Given the description of an element on the screen output the (x, y) to click on. 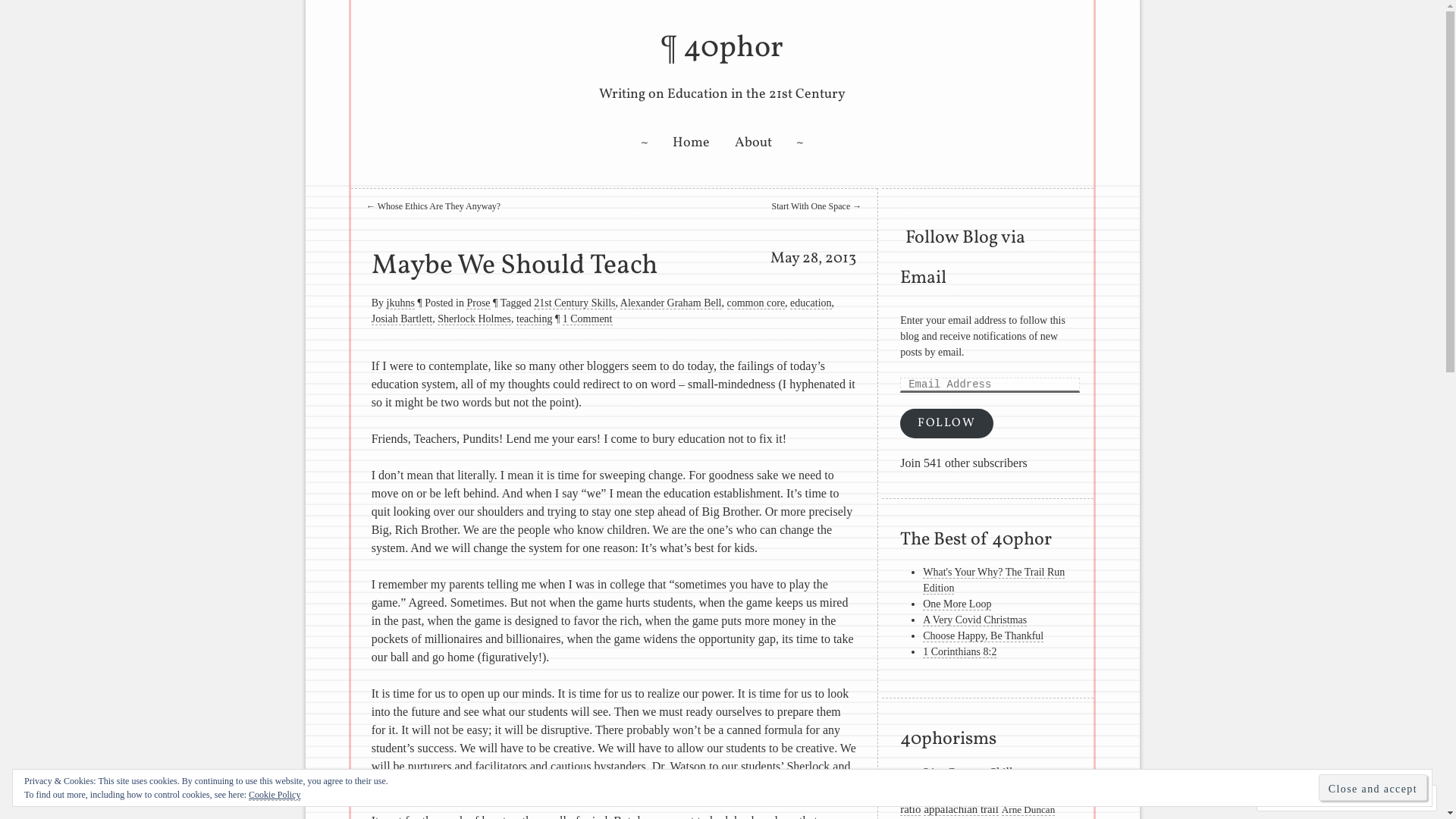
Arne Duncan Element type: text (1028, 809)
appalachian trail Element type: text (960, 809)
40phor Element type: text (917, 791)
30 day challenge Element type: text (1047, 773)
administration Element type: text (1024, 790)
FOLLOW Element type: text (946, 423)
common core Element type: text (756, 303)
jkuhns Element type: text (400, 303)
Choose Happy, Be Thankful Element type: text (982, 636)
A Very Covid Christmas Element type: text (974, 620)
Skip to content Element type: text (397, 141)
Close and accept Element type: text (1372, 787)
21st Century Skills Element type: text (970, 772)
Josiah Bartlett Element type: text (402, 319)
One More Loop Element type: text (956, 604)
Prose Element type: text (477, 303)
achievement Element type: text (963, 791)
Home Element type: text (690, 142)
Comment Element type: text (1297, 797)
Cookie Policy Element type: text (274, 794)
1 Comment Element type: text (587, 319)
teaching Element type: text (534, 319)
What's Your Why? The Trail Run Edition Element type: text (993, 580)
1 Corinthians 8:2 Element type: text (959, 652)
aid ratio Element type: text (986, 799)
21st Century Skills Element type: text (574, 303)
40phor Element type: text (733, 48)
Alexander Graham Bell Element type: text (670, 303)
education Element type: text (810, 303)
About Element type: text (752, 142)
9/12 Element type: text (909, 772)
Follow Element type: text (1373, 797)
Sherlock Holmes Element type: text (474, 319)
